Given the description of an element on the screen output the (x, y) to click on. 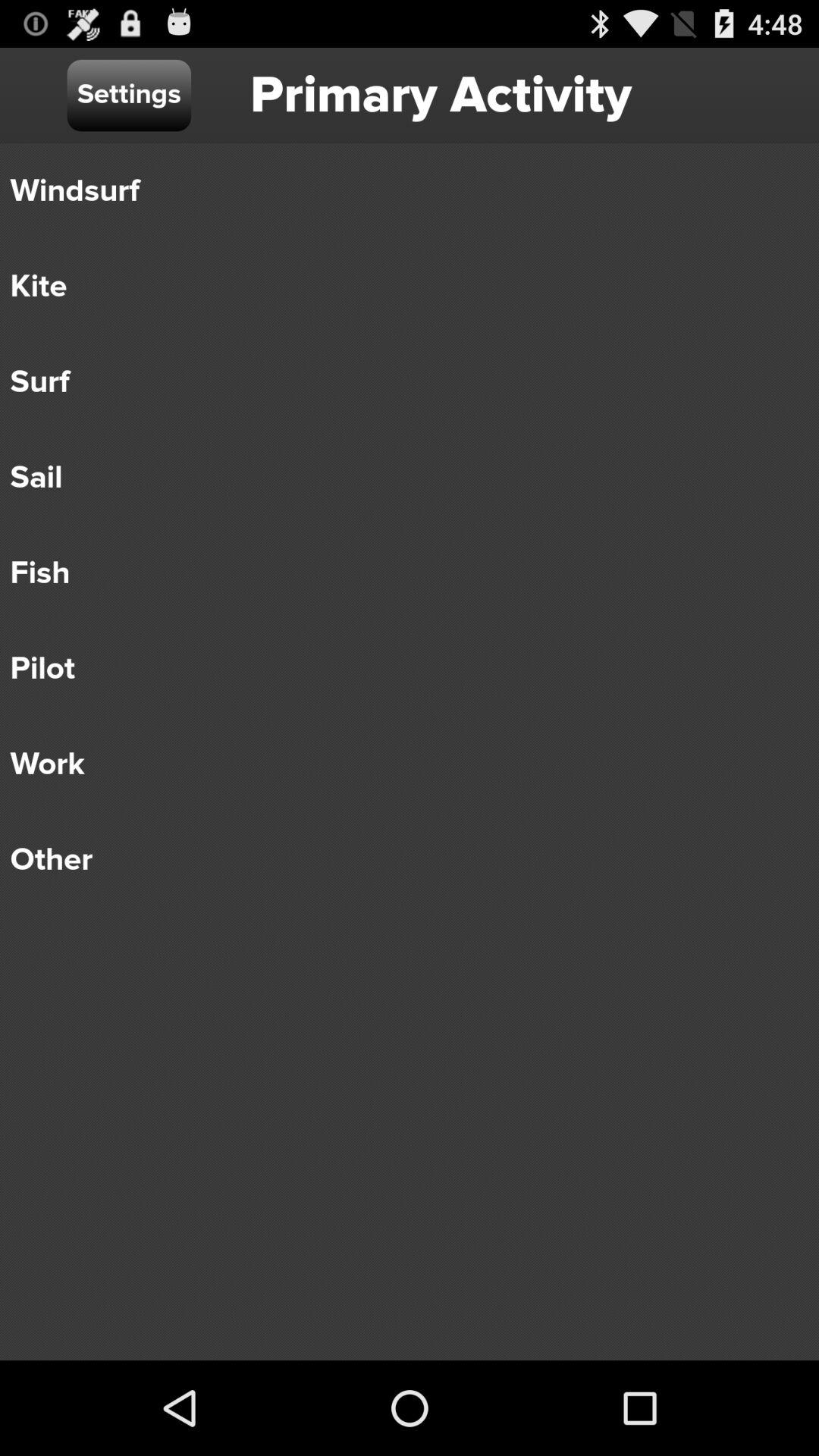
choose sail icon (399, 477)
